Given the description of an element on the screen output the (x, y) to click on. 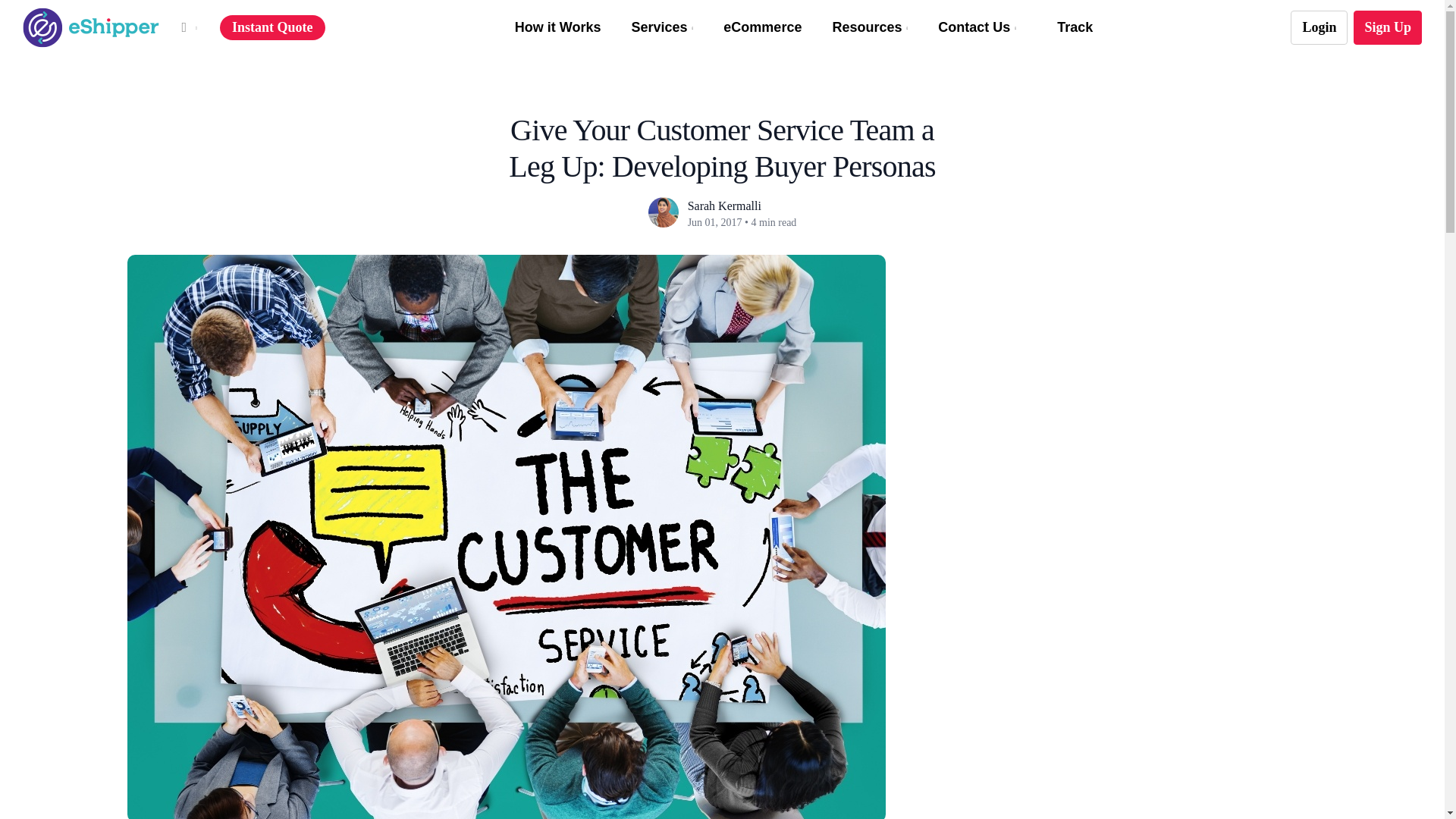
Start search (709, 5)
Instant Quote (271, 27)
Services (661, 27)
Resources (869, 27)
eCommerce (762, 27)
Contact Us (976, 27)
How it Works (558, 27)
